Given the description of an element on the screen output the (x, y) to click on. 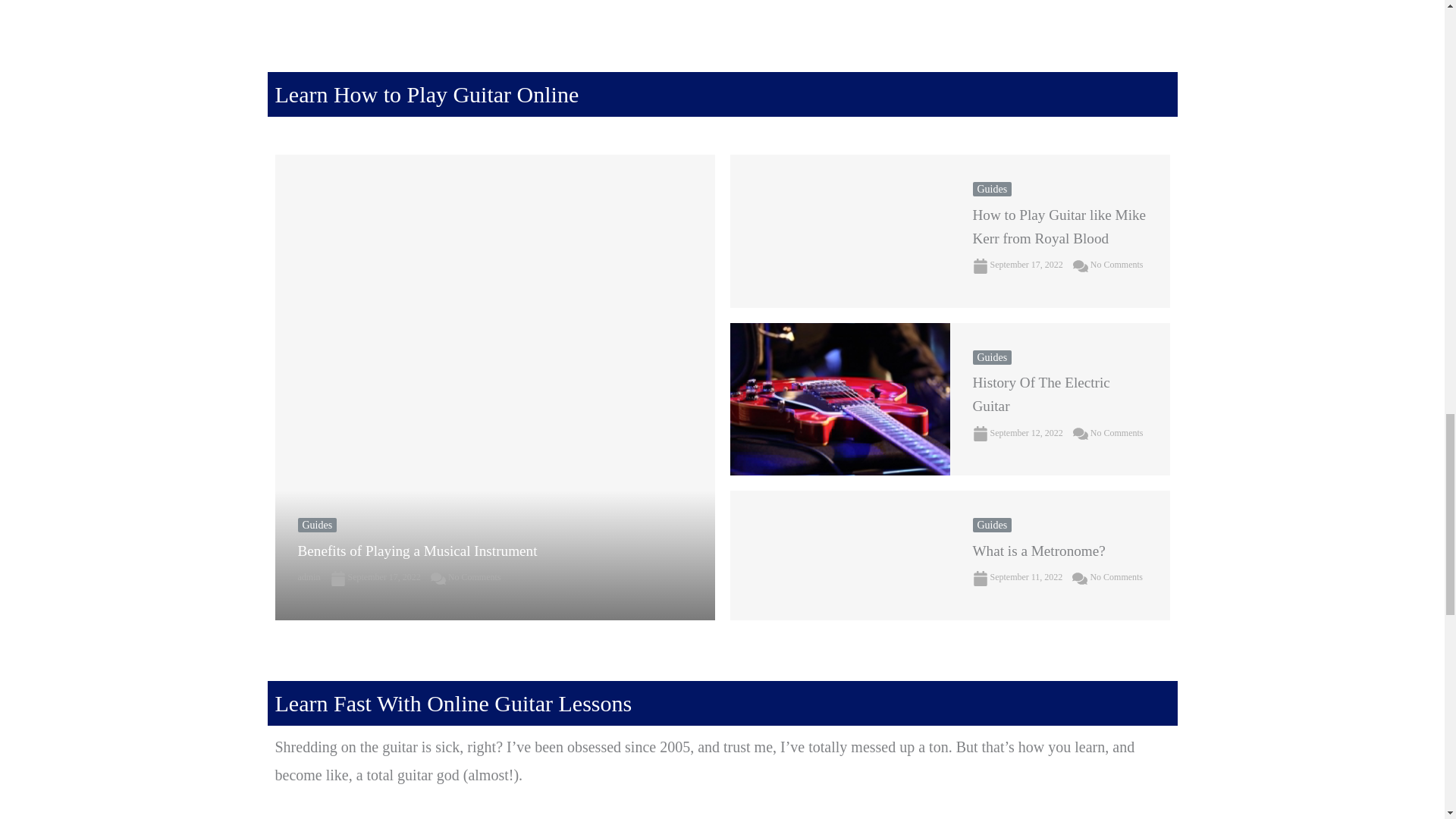
admin (308, 576)
How to Play Guitar like Mike Kerr from Royal Blood (839, 230)
What is a Metronome? (839, 554)
Guides (316, 524)
Benefits of Playing a Musical Instrument (417, 550)
Posts by admin (308, 576)
Guides (991, 188)
History Of The Electric Guitar (839, 398)
